Given the description of an element on the screen output the (x, y) to click on. 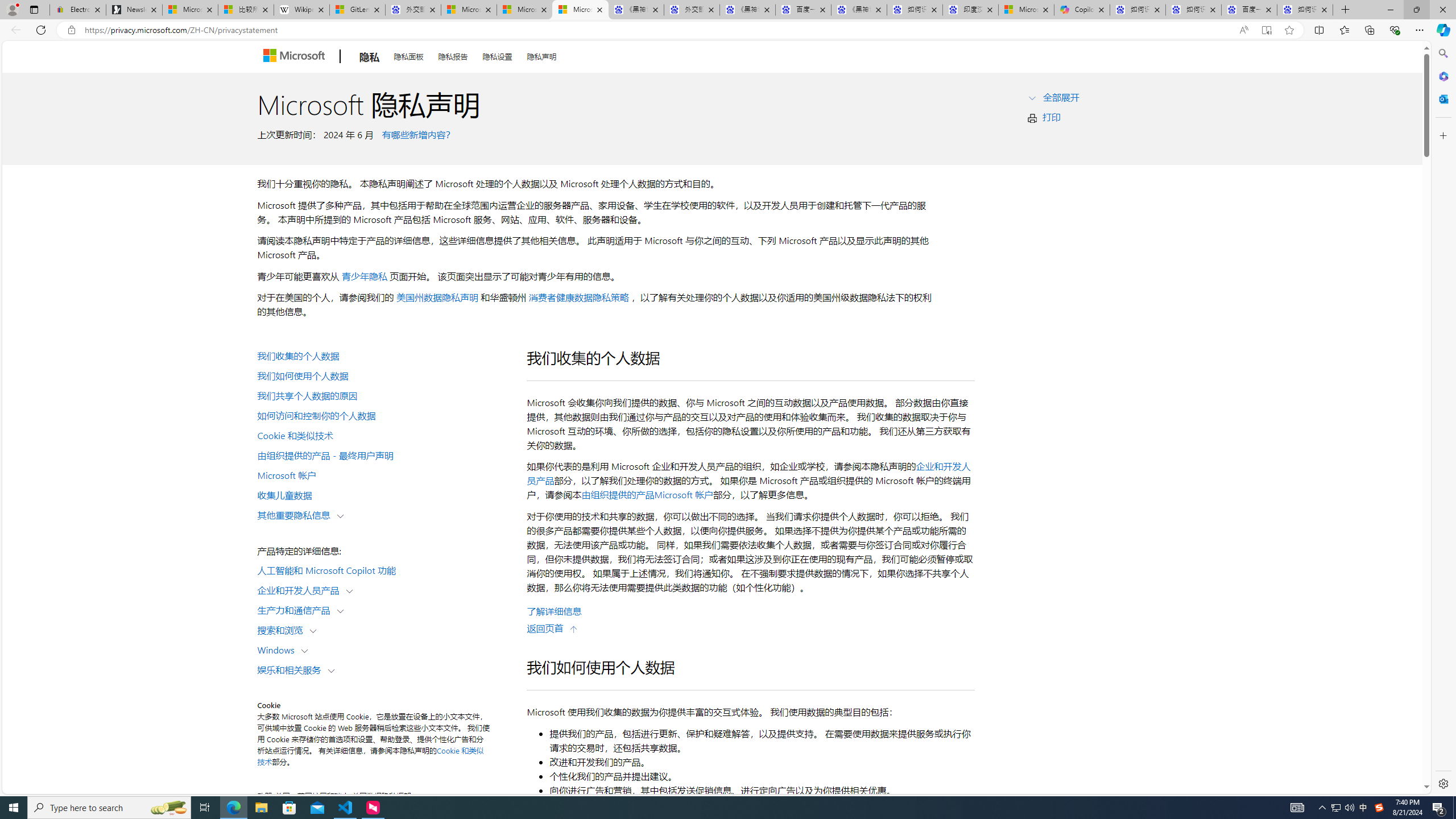
Copilot (1082, 9)
